Given the description of an element on the screen output the (x, y) to click on. 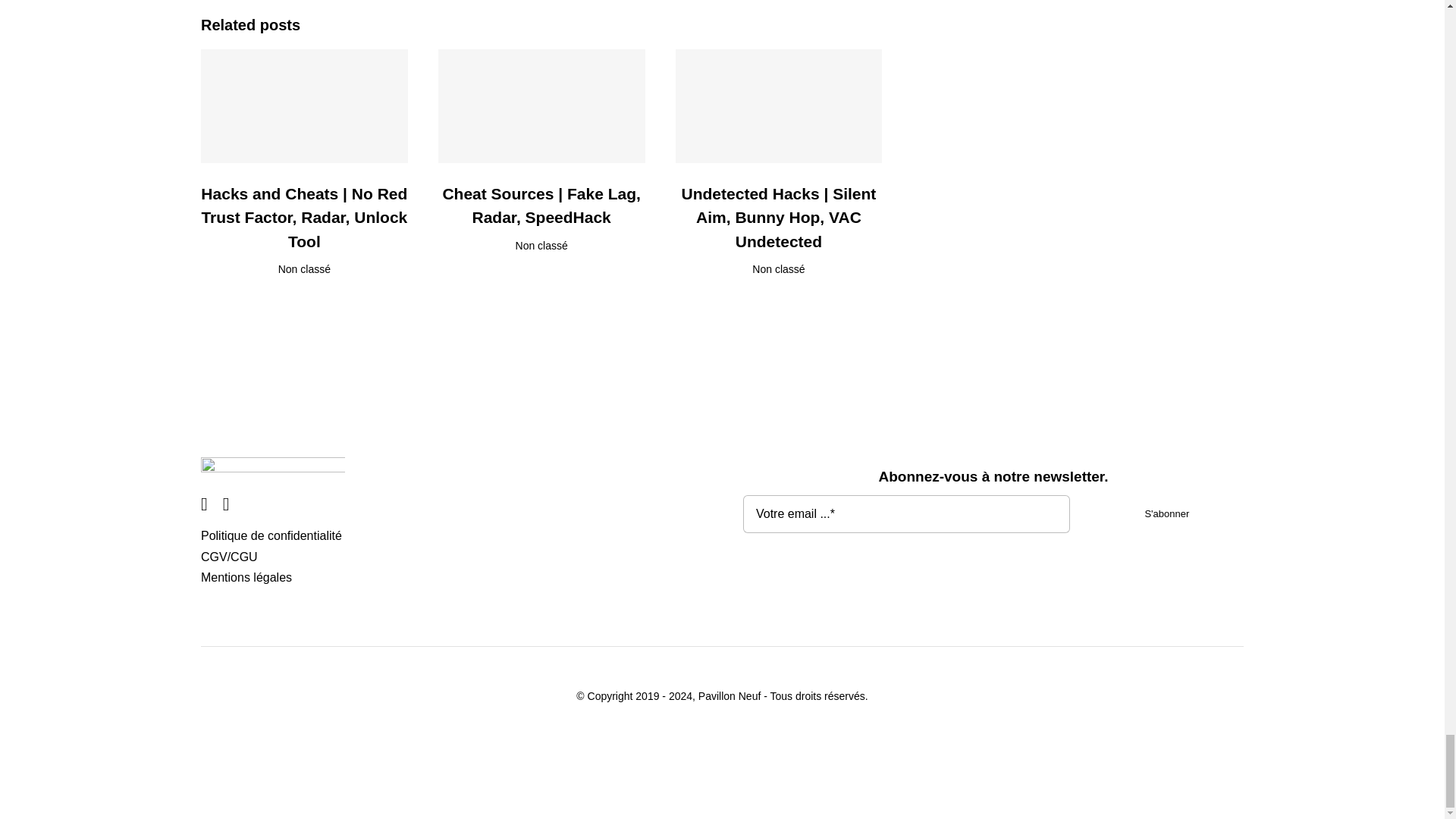
Facebook (204, 504)
Instagram (226, 504)
S'abonner (992, 522)
pavillonneuflogo (272, 470)
